Given the description of an element on the screen output the (x, y) to click on. 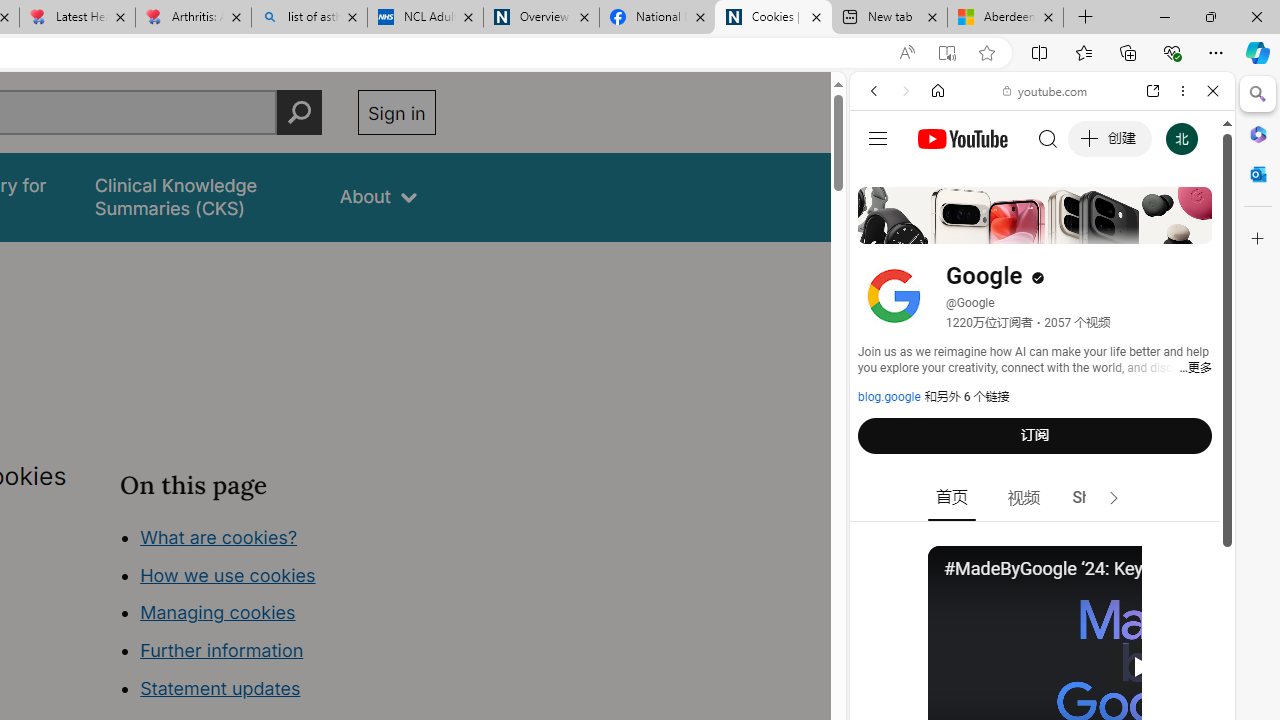
Google (1042, 494)
false (198, 196)
Search videos from youtube.com (1005, 657)
#you (1042, 445)
Web scope (882, 180)
How we use cookies (227, 574)
Music (1042, 543)
Search Filter, VIDEOS (1006, 228)
